Given the description of an element on the screen output the (x, y) to click on. 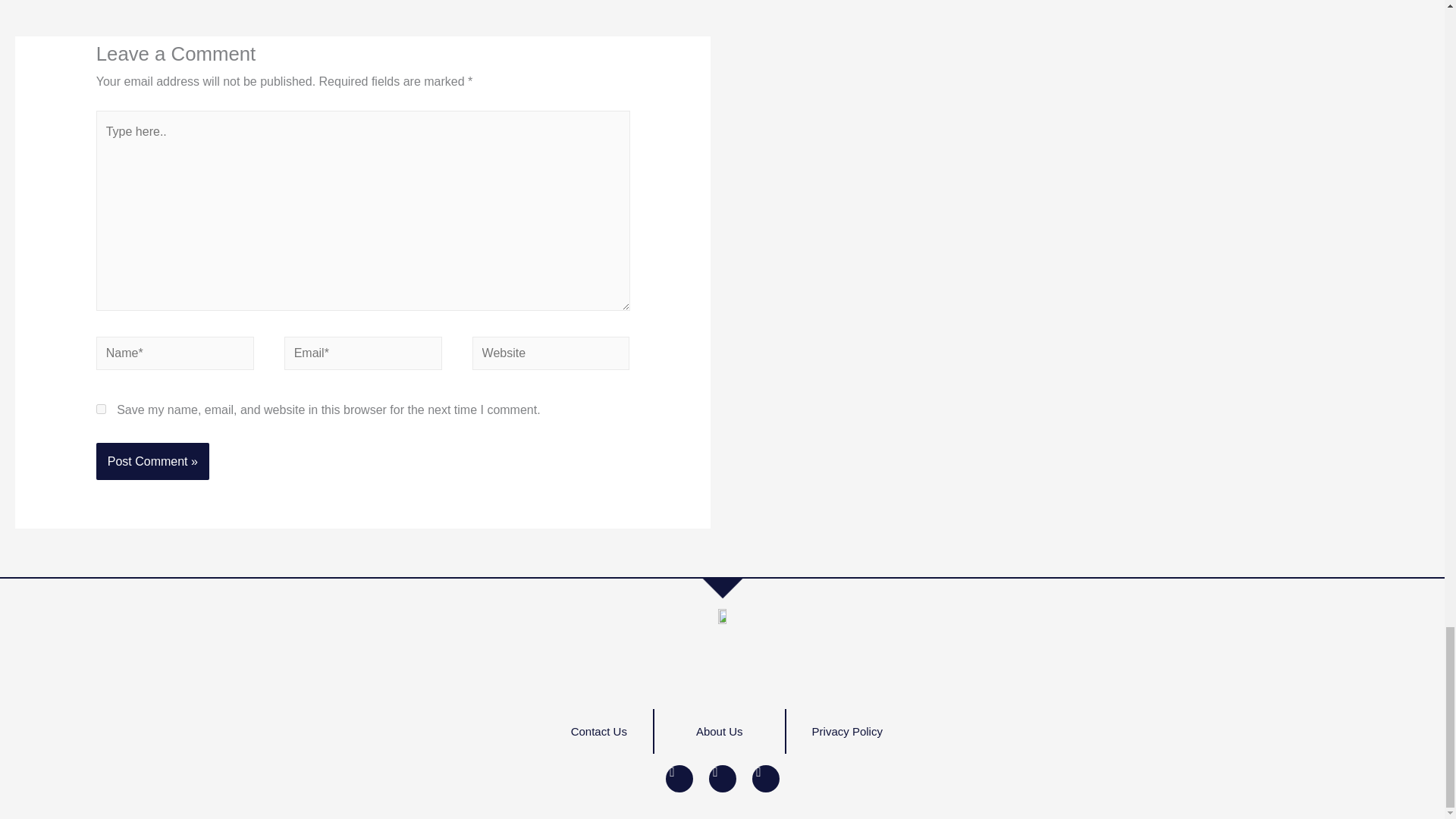
yes (101, 409)
About Us (719, 731)
Contact Us (599, 731)
Privacy Policy (847, 731)
